Given the description of an element on the screen output the (x, y) to click on. 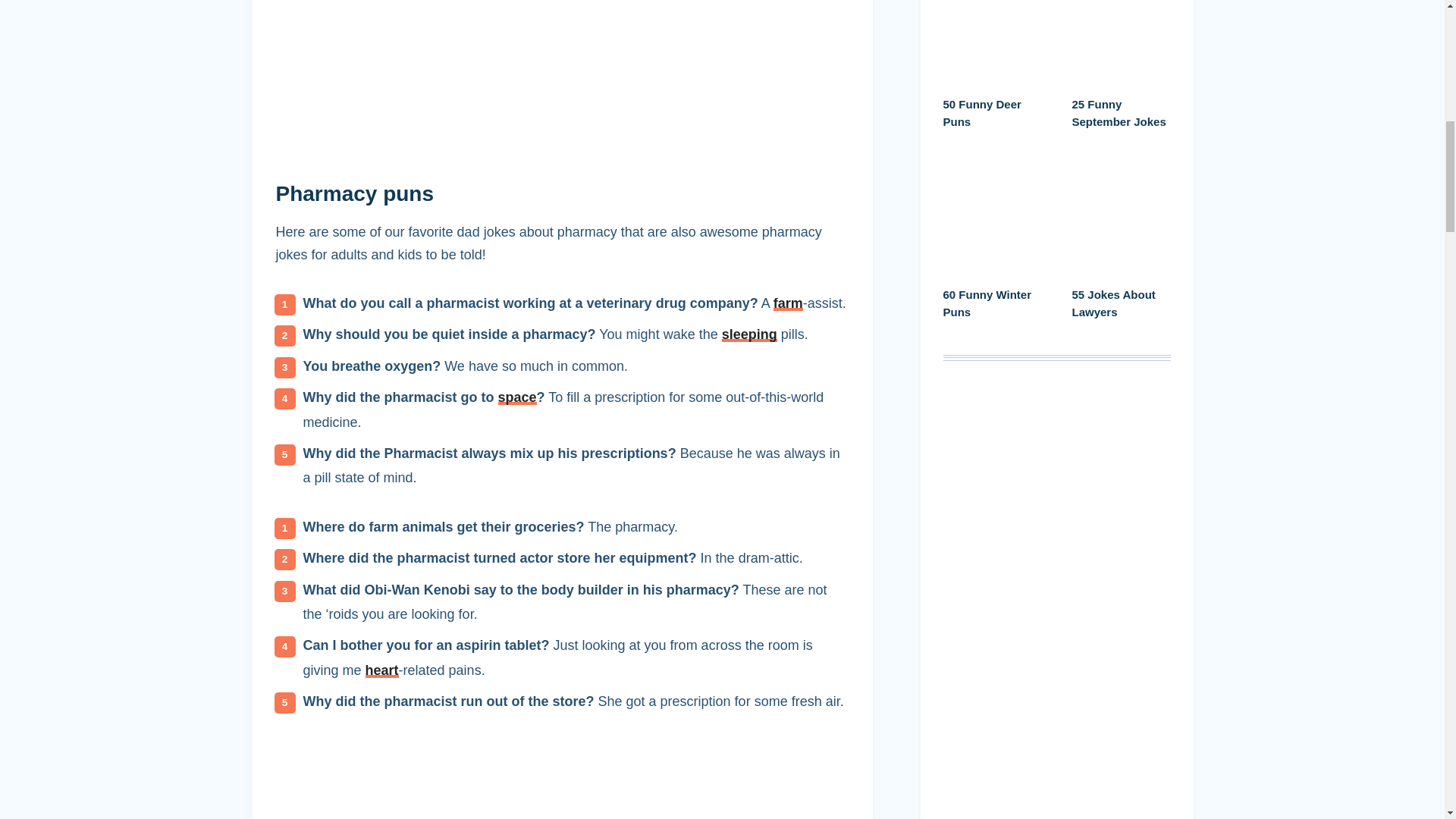
farm (788, 303)
heart (381, 670)
sleeping (749, 334)
heart (381, 670)
space (517, 396)
sleeping (749, 334)
farm (788, 303)
space (517, 396)
